Given the description of an element on the screen output the (x, y) to click on. 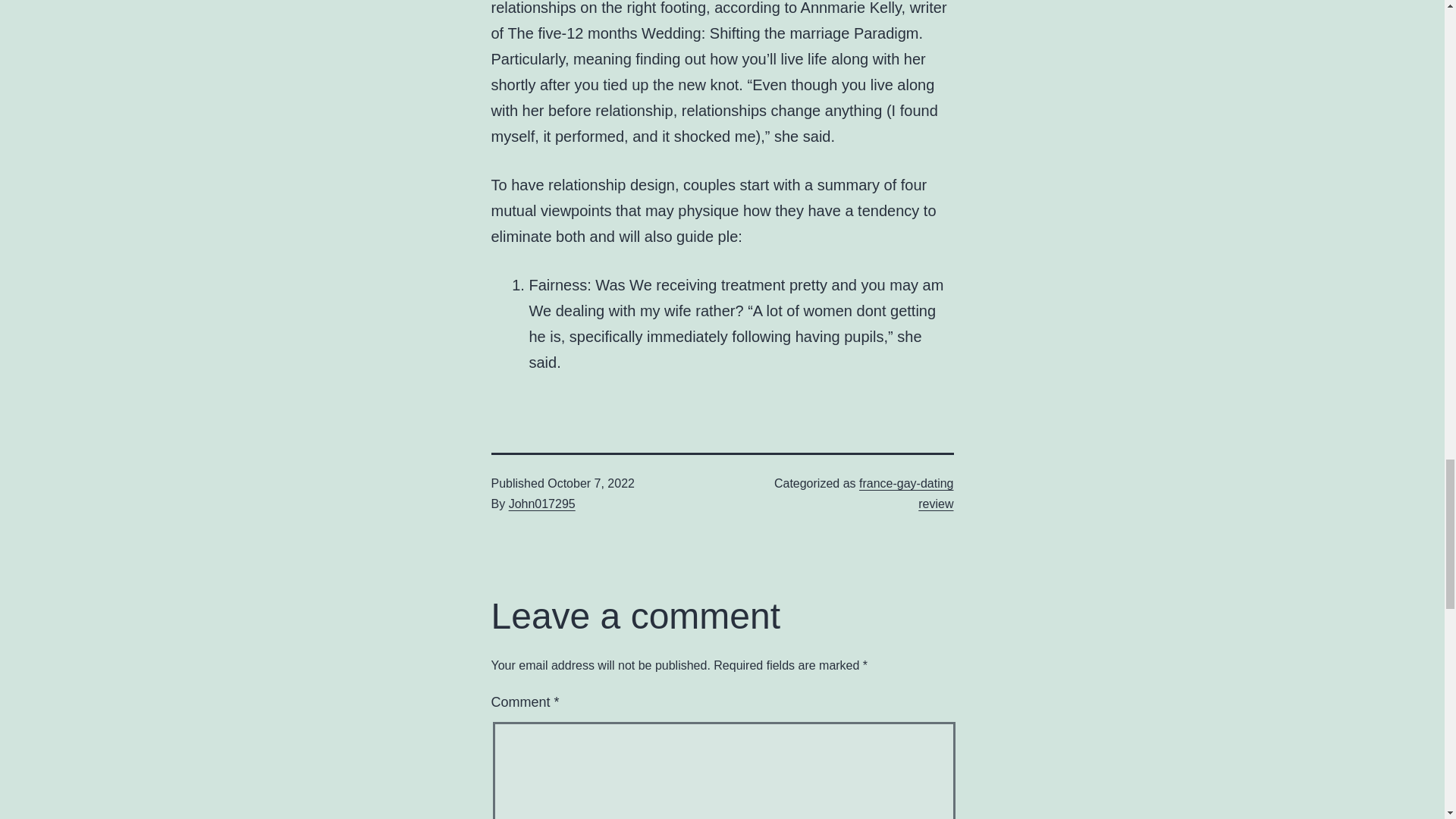
John017295 (541, 503)
